Given the description of an element on the screen output the (x, y) to click on. 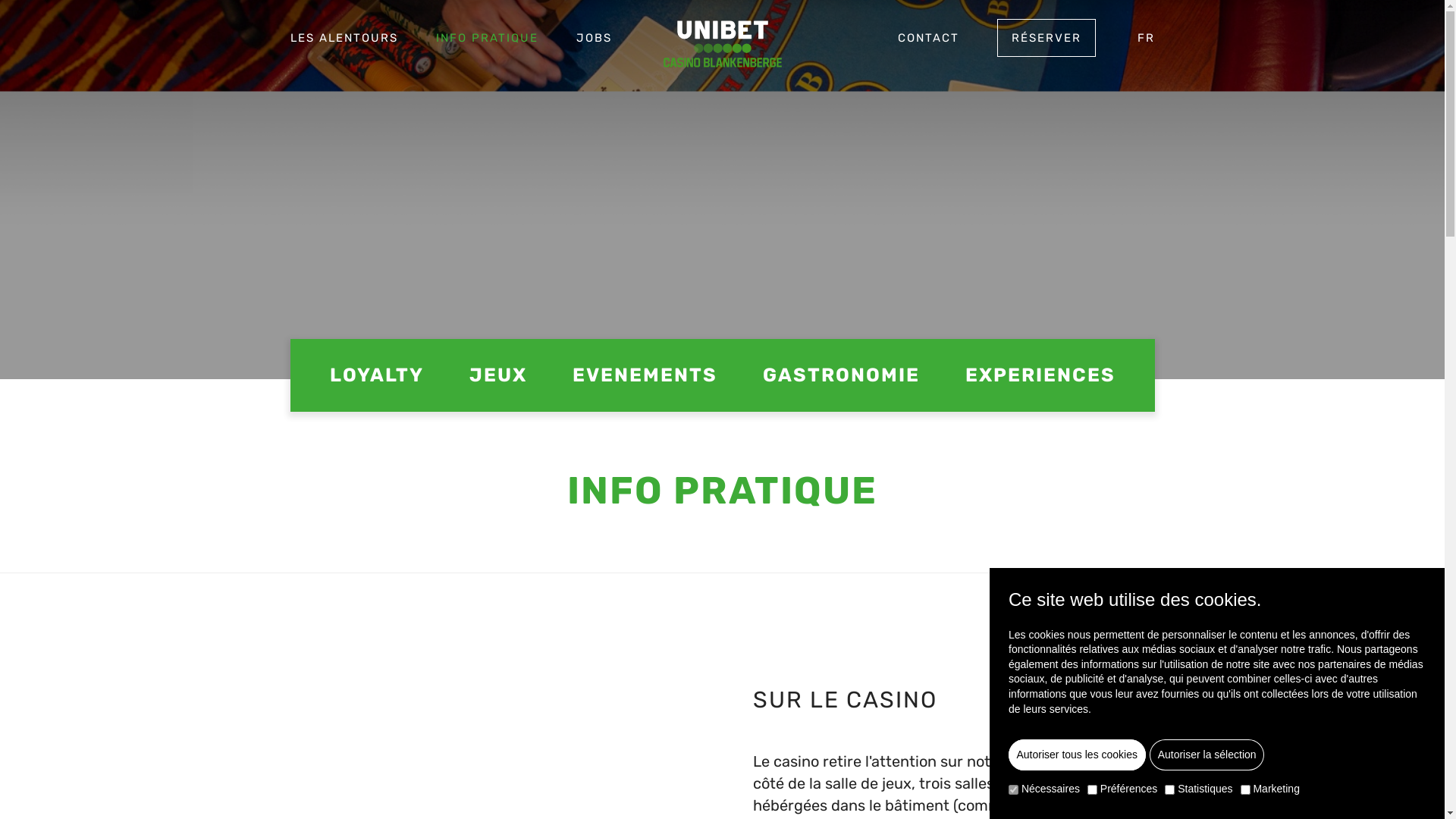
LES ALENTOURS Element type: text (343, 45)
JEUX Element type: text (497, 374)
  Element type: text (721, 43)
SUR LE CASINO Element type: text (937, 699)
FR Element type: text (1145, 45)
GASTRONOMIE Element type: text (841, 374)
JOBS Element type: text (593, 45)
EVENEMENTS Element type: text (644, 374)
Autoriser tous les cookies Element type: text (1076, 754)
INFO PRATIQUE Element type: text (486, 45)
EXPERIENCES Element type: text (1039, 374)
CONTACT Element type: text (928, 45)
LOYALTY Element type: text (375, 374)
